Given the description of an element on the screen output the (x, y) to click on. 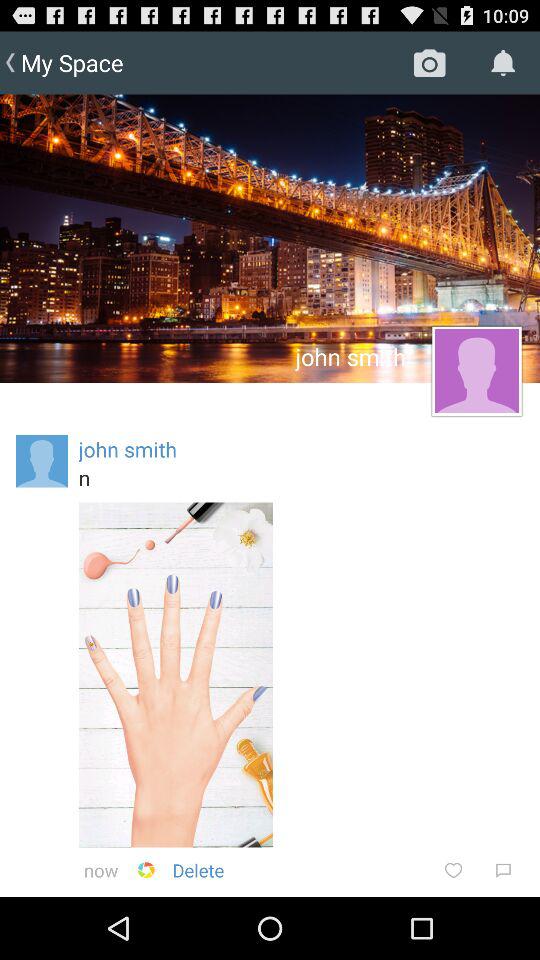
choose the app next to john smith icon (41, 461)
